Given the description of an element on the screen output the (x, y) to click on. 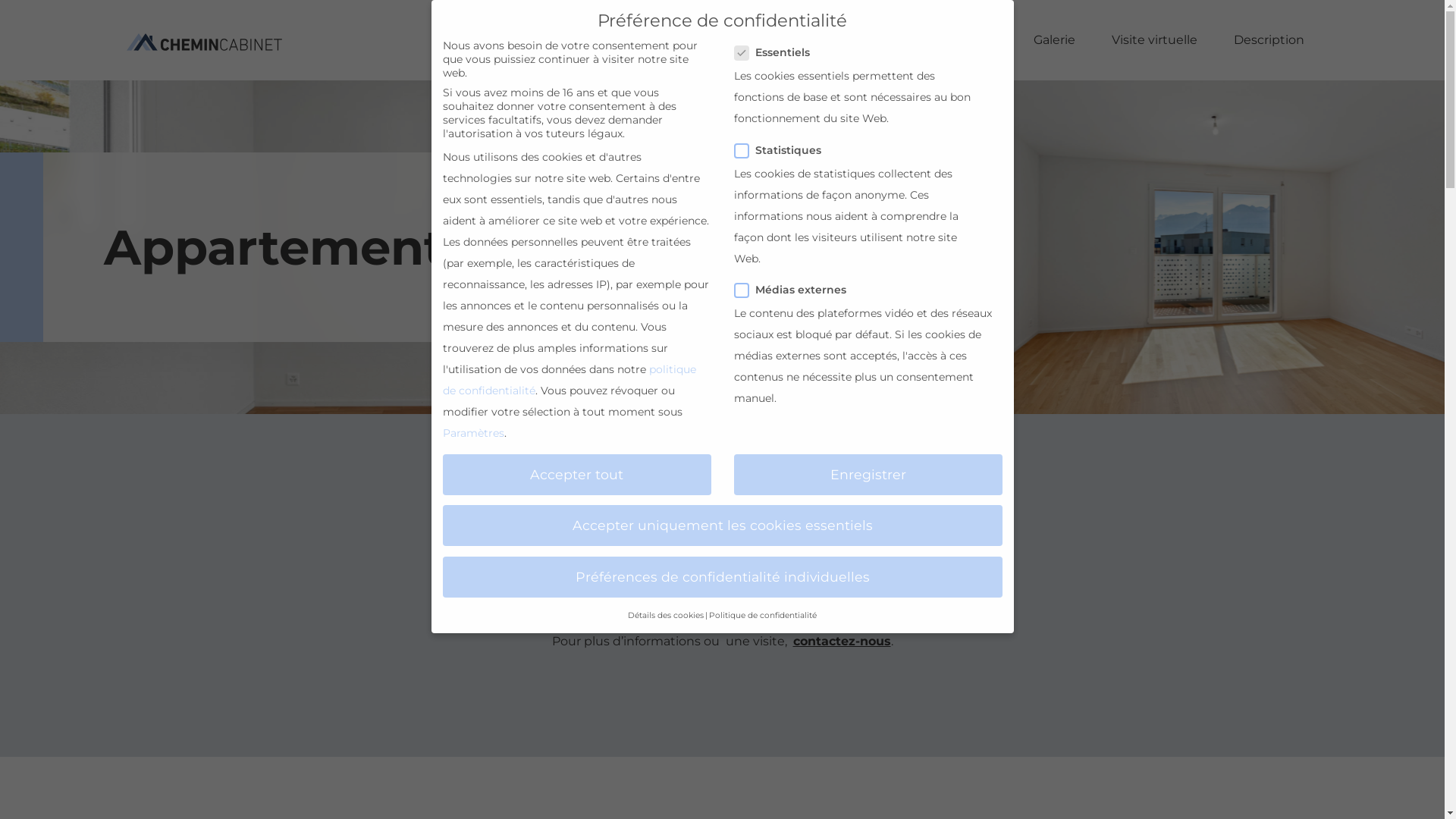
Accepter tout Element type: text (576, 474)
Galerie Element type: text (1054, 40)
Accepter uniquement les cookies essentiels Element type: text (722, 525)
Enregistrer Element type: text (868, 474)
Description Element type: text (1268, 40)
contactez-nous Element type: text (842, 640)
Appartements Element type: text (950, 40)
Visite virtuelle Element type: text (1154, 40)
